Given the description of an element on the screen output the (x, y) to click on. 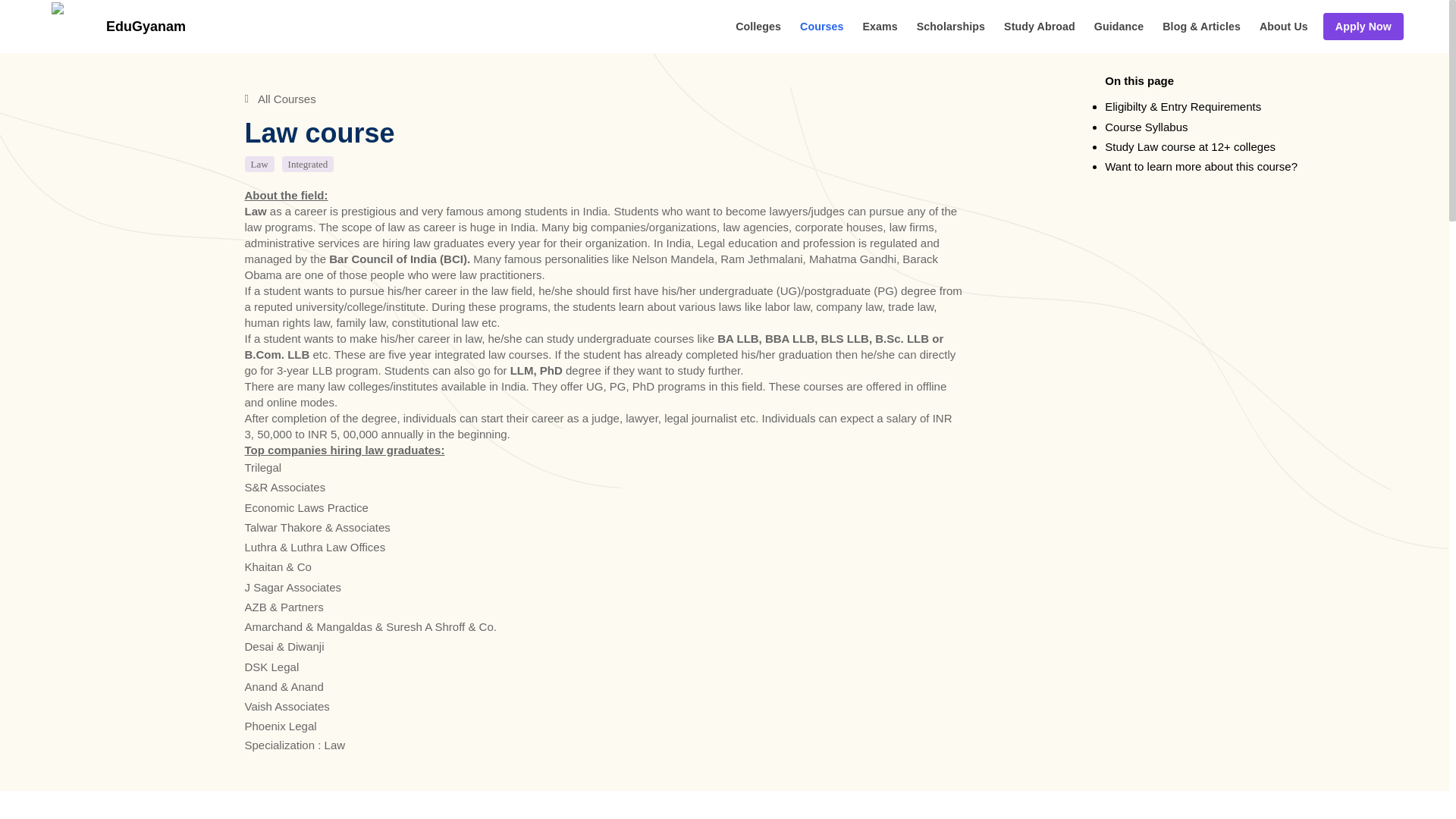
About Us (1283, 26)
Guidance (1118, 26)
Course Syllabus (1146, 126)
Apply Now (1363, 26)
Want to learn more about this course? (1201, 166)
Study Abroad (1039, 26)
Exams (880, 26)
Courses (821, 26)
Scholarships (951, 26)
EduGyanam (118, 26)
Colleges (757, 26)
All Courses (603, 98)
EduGyanam (115, 26)
